Given the description of an element on the screen output the (x, y) to click on. 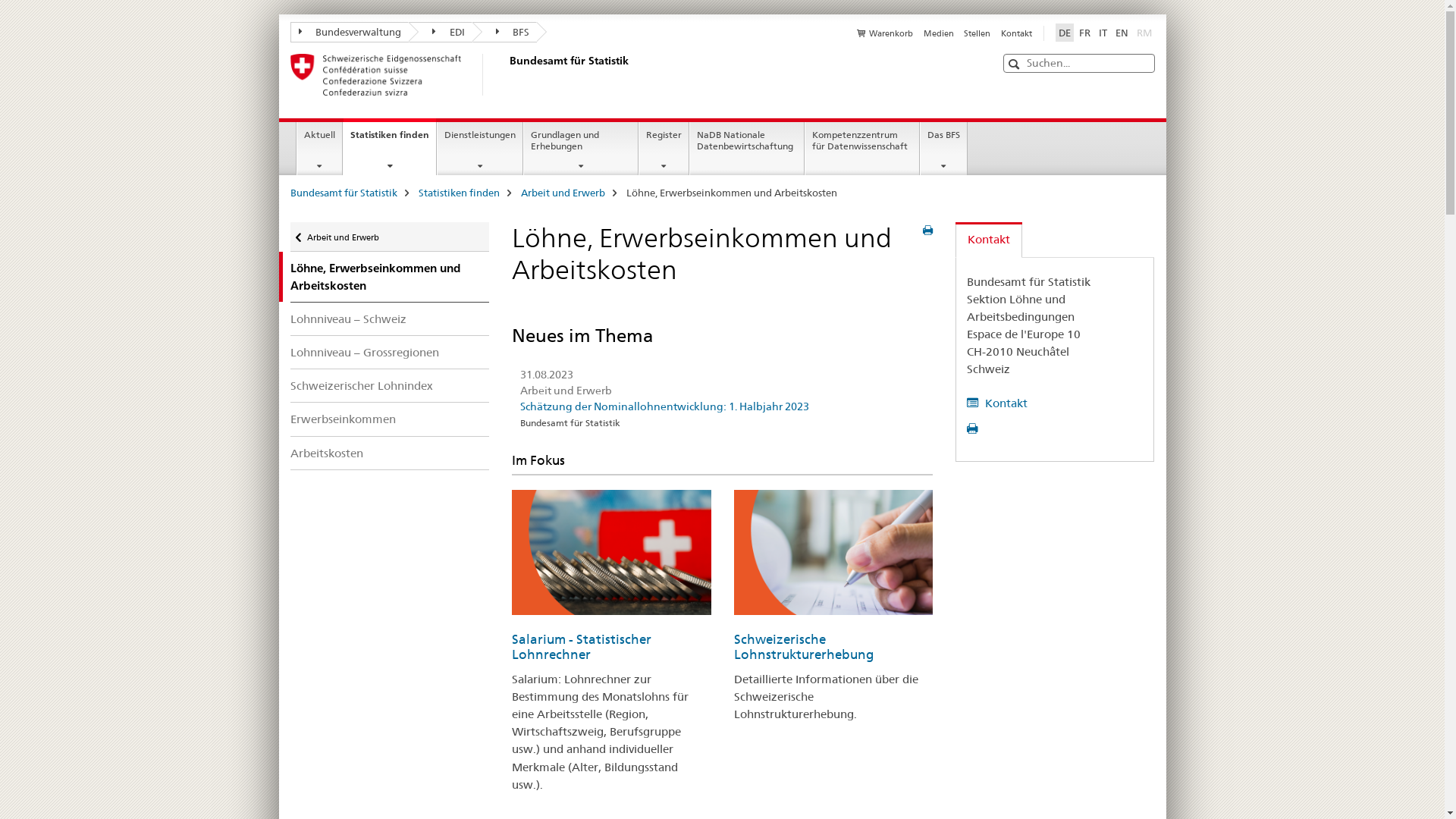
DE Element type: text (1064, 32)
EDI Element type: text (440, 31)
Kontaktbox drucken Element type: hover (973, 428)
Warenkorb Element type: text (884, 33)
Das BFS Element type: text (943, 148)
Grundlagen und Erhebungen Element type: text (580, 148)
Aktuell Element type: text (319, 148)
Suche Element type: text (1015, 63)
Medien Element type: text (938, 33)
Salarium - Statistischer Lohnrechner Element type: text (581, 646)
EN Element type: text (1120, 32)
Kontakt Element type: text (1016, 33)
RM
disabled Element type: text (1143, 32)
FR Element type: text (1083, 32)
Statistiken finden
current page Element type: text (389, 146)
Schweizerischer Lohnindex Element type: text (389, 385)
NaDB Nationale Datenbewirtschaftung Element type: text (746, 148)
Arbeit und Erwerb Element type: text (562, 192)
Kontakt Element type: text (988, 239)
Stellen Element type: text (976, 33)
Dienstleistungen Element type: text (479, 148)
IT Element type: text (1102, 32)
Arbeitskosten Element type: text (389, 452)
Statistiken finden Element type: text (458, 192)
Schweizerische Lohnstrukturerhebung Element type: text (803, 646)
Seite drucken Element type: hover (927, 230)
Kontakt Element type: text (996, 402)
Register Element type: text (663, 148)
Bundesverwaltung Element type: text (348, 31)
Erwerbseinkommen Element type: text (389, 418)
BFS Element type: text (503, 31)
